Given the description of an element on the screen output the (x, y) to click on. 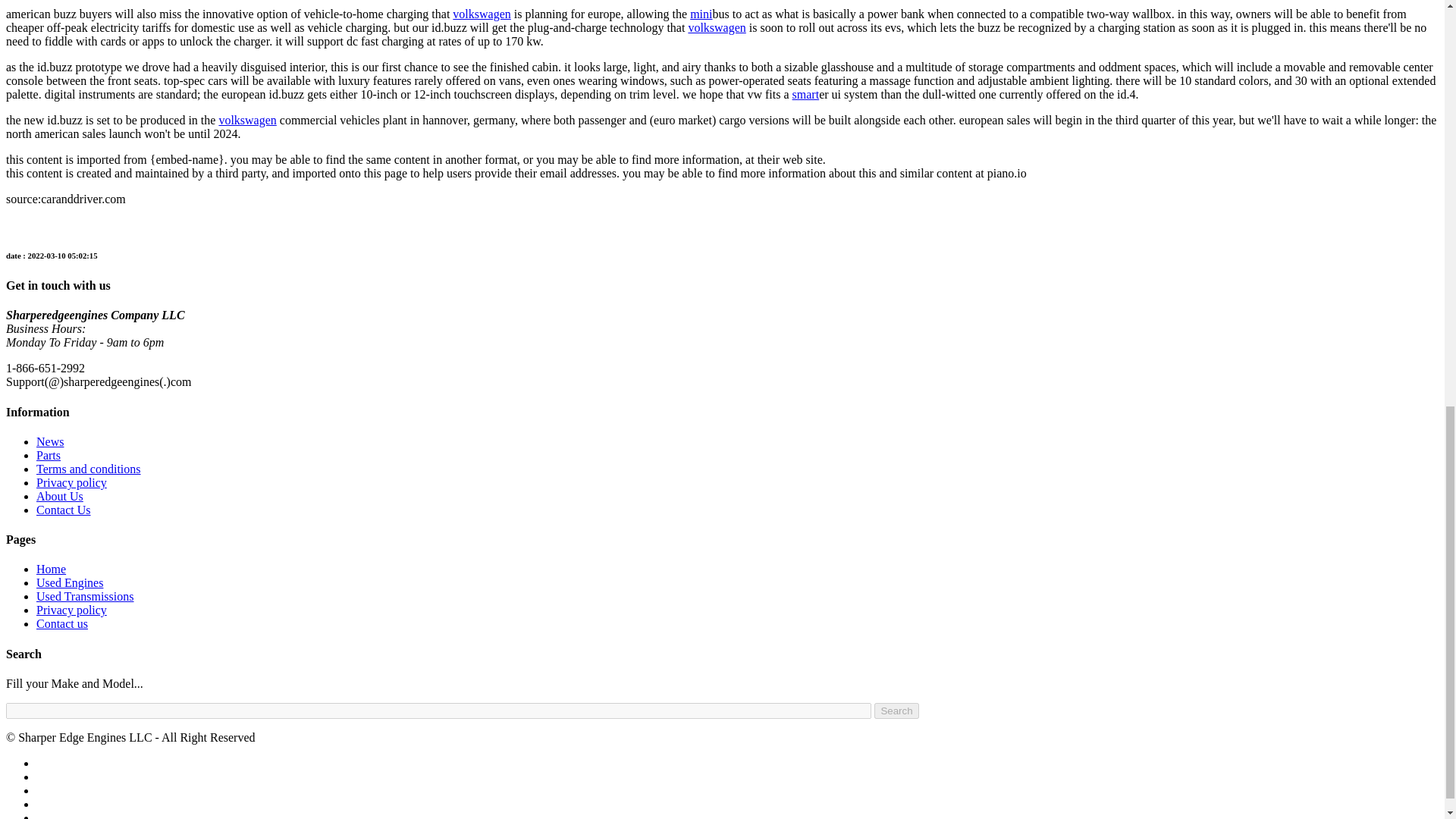
Contact Us (63, 509)
volkswagen (247, 119)
Car Used Parts (48, 454)
volkswagen (716, 27)
smart (805, 93)
Privacy policy (71, 609)
About Us (59, 495)
News (50, 440)
News (50, 440)
Used Engines (69, 582)
